Given the description of an element on the screen output the (x, y) to click on. 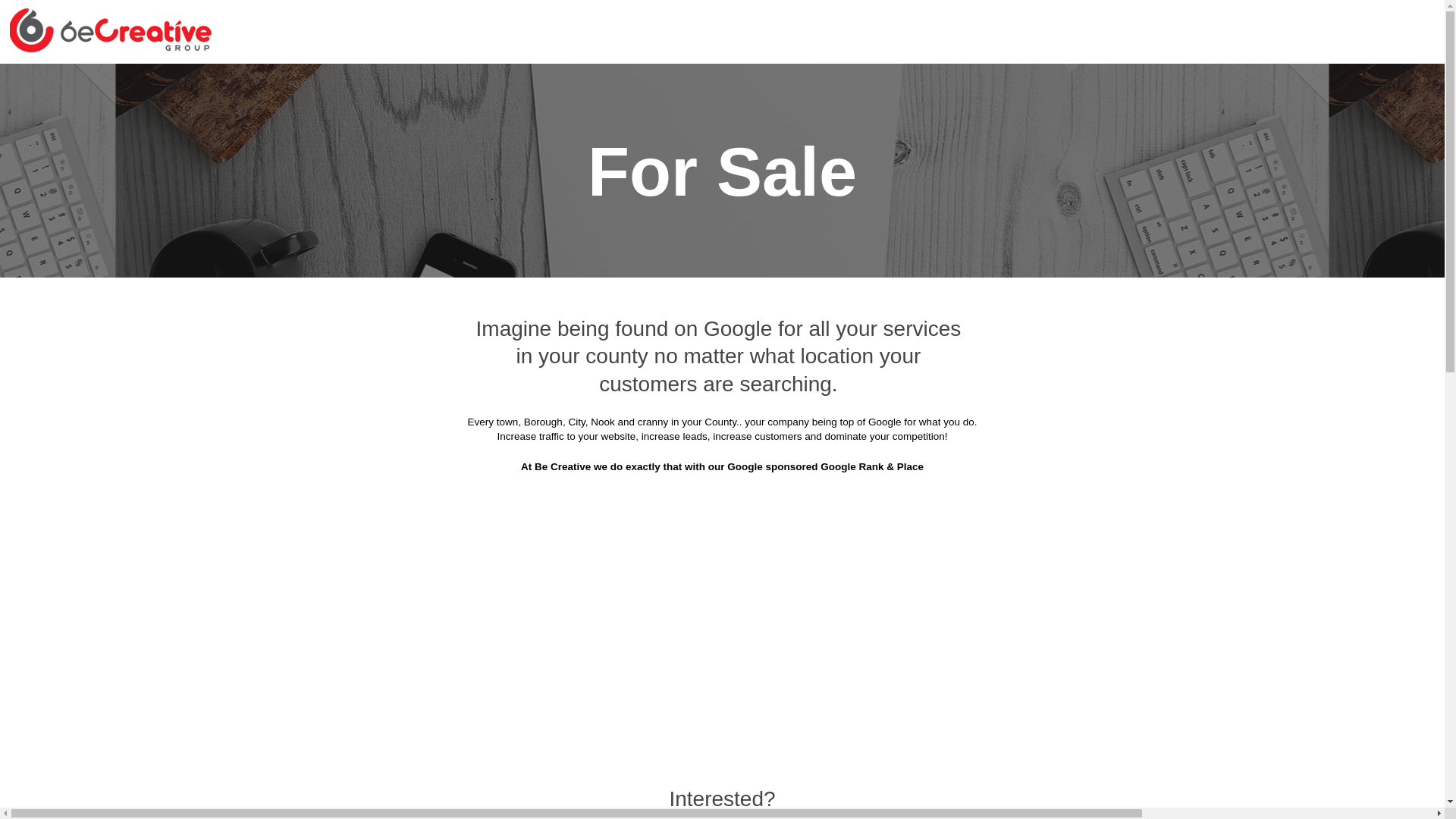
Aggregate Suppliers Hayle Cornwall (631, 346)
Aggregate Suppliers Kingsteignton Devon (388, 422)
Aggregate Suppliers Chulmleigh Devon (850, 234)
Aggregate Suppliers Budleigh Salterton Devon (582, 196)
Aggregate Suppliers Ivybridge Devon (848, 383)
Aggregate Suppliers Buckfastleigh Devon (860, 158)
Aggregate Suppliers Kingsbridge Devon (1074, 383)
Aggregate Suppliers Chudleigh Devon (622, 234)
Aggregate Suppliers Bideford Devon (617, 121)
Aggregate Suppliers Fowey Cornwall (824, 309)
Aggregate Suppliers Brixham Devon (632, 158)
Aggregate Suppliers Bude Cornwall (1086, 158)
Aggregate Suppliers Ilfracombe Devon (625, 383)
Aggregate Suppliers Barnstaple Devon (395, 121)
Aggregate Suppliers Ashburton Devon (855, 83)
